Given the description of an element on the screen output the (x, y) to click on. 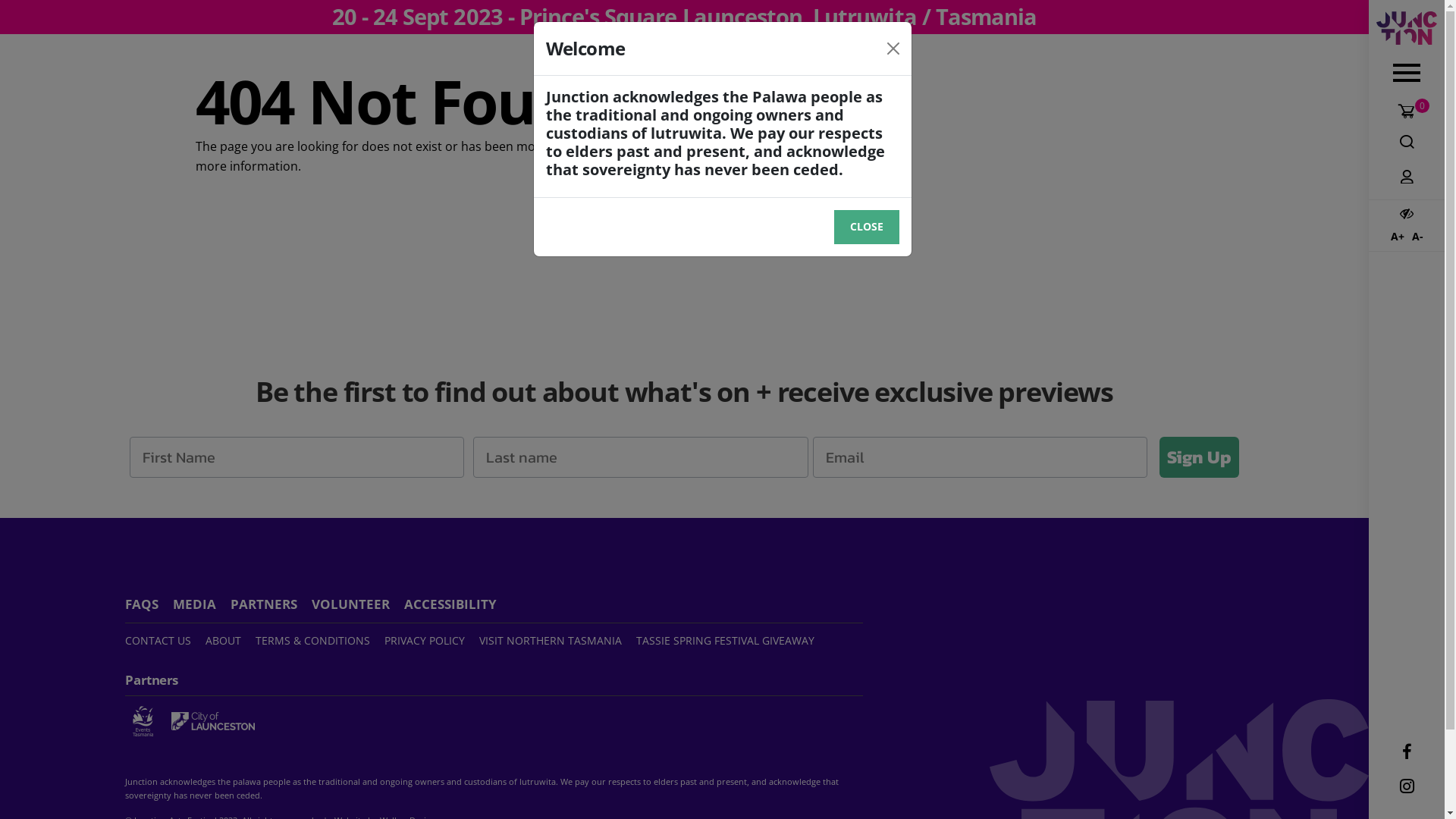
VOLUNTEER Element type: text (356, 603)
LOGIN Element type: text (1406, 176)
ABOUT Element type: text (228, 640)
High Contrast Element type: text (1406, 214)
PRIVACY POLICY Element type: text (430, 640)
contact us Element type: text (765, 146)
Menu Element type: text (1406, 73)
TASSIE SPRING FESTIVAL GIVEAWAY Element type: text (730, 640)
CLOSE Element type: text (866, 226)
Shopping Cart
0 Element type: text (1406, 113)
Like us on Facebook Element type: text (1406, 752)
Larger Text
A+ Element type: text (1396, 236)
PARTNERS Element type: text (269, 603)
Search Site Element type: text (1406, 141)
FAQS Element type: text (147, 603)
Home page Element type: text (683, 146)
Follow us on Instagram Element type: text (1406, 786)
Submit Element type: text (26, 10)
Smaller Text
A- Element type: text (1416, 236)
MEDIA Element type: text (199, 603)
VISIT NORTHERN TASMANIA Element type: text (556, 640)
ACCESSIBILITY Element type: text (456, 603)
TERMS & CONDITIONS Element type: text (318, 640)
CONTACT US Element type: text (163, 640)
Sign Up Element type: text (1199, 456)
